Given the description of an element on the screen output the (x, y) to click on. 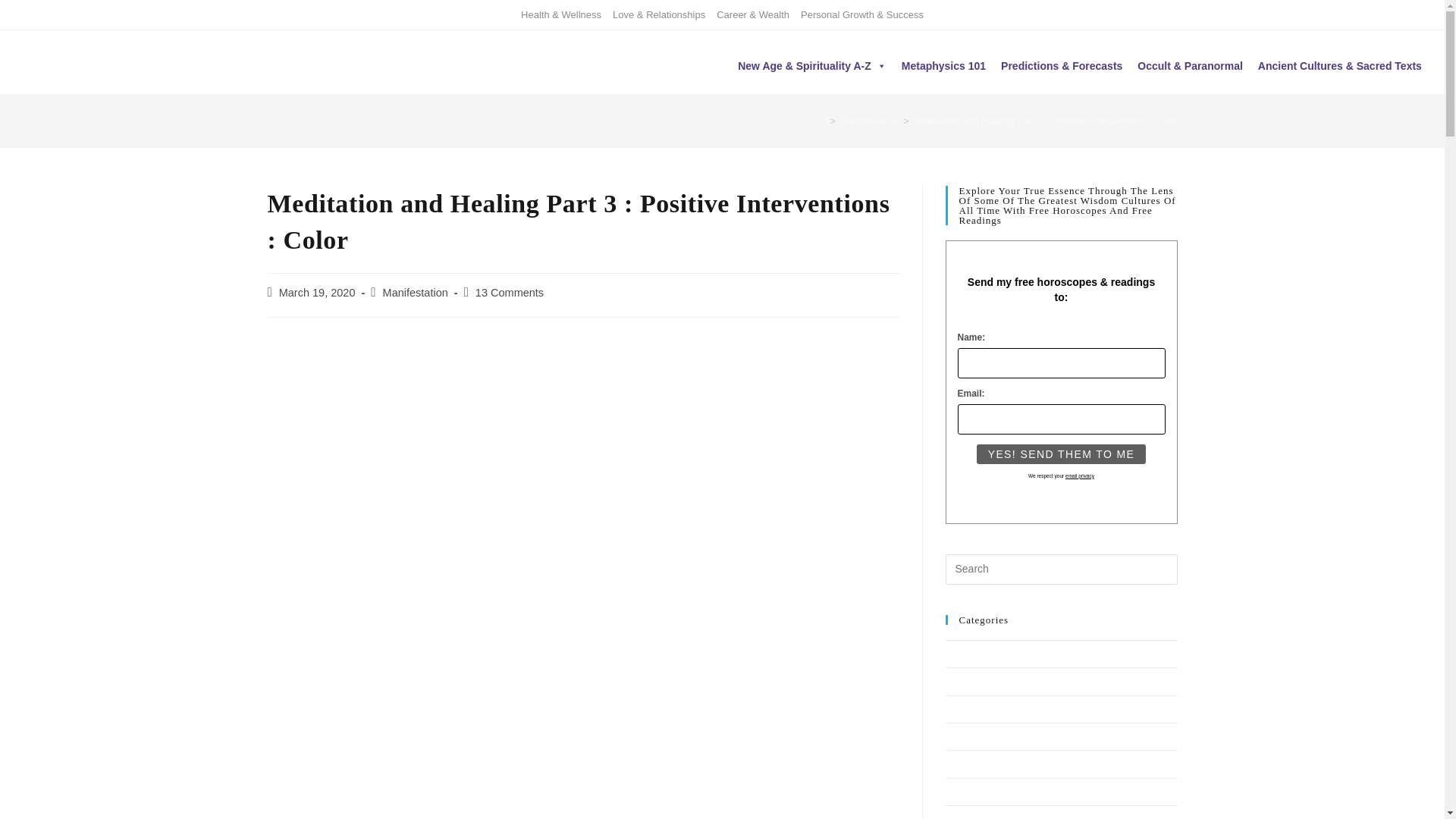
Yes! Send them to me (1061, 454)
Privacy Policy (1079, 475)
Metaphysics 101 (942, 65)
